Given the description of an element on the screen output the (x, y) to click on. 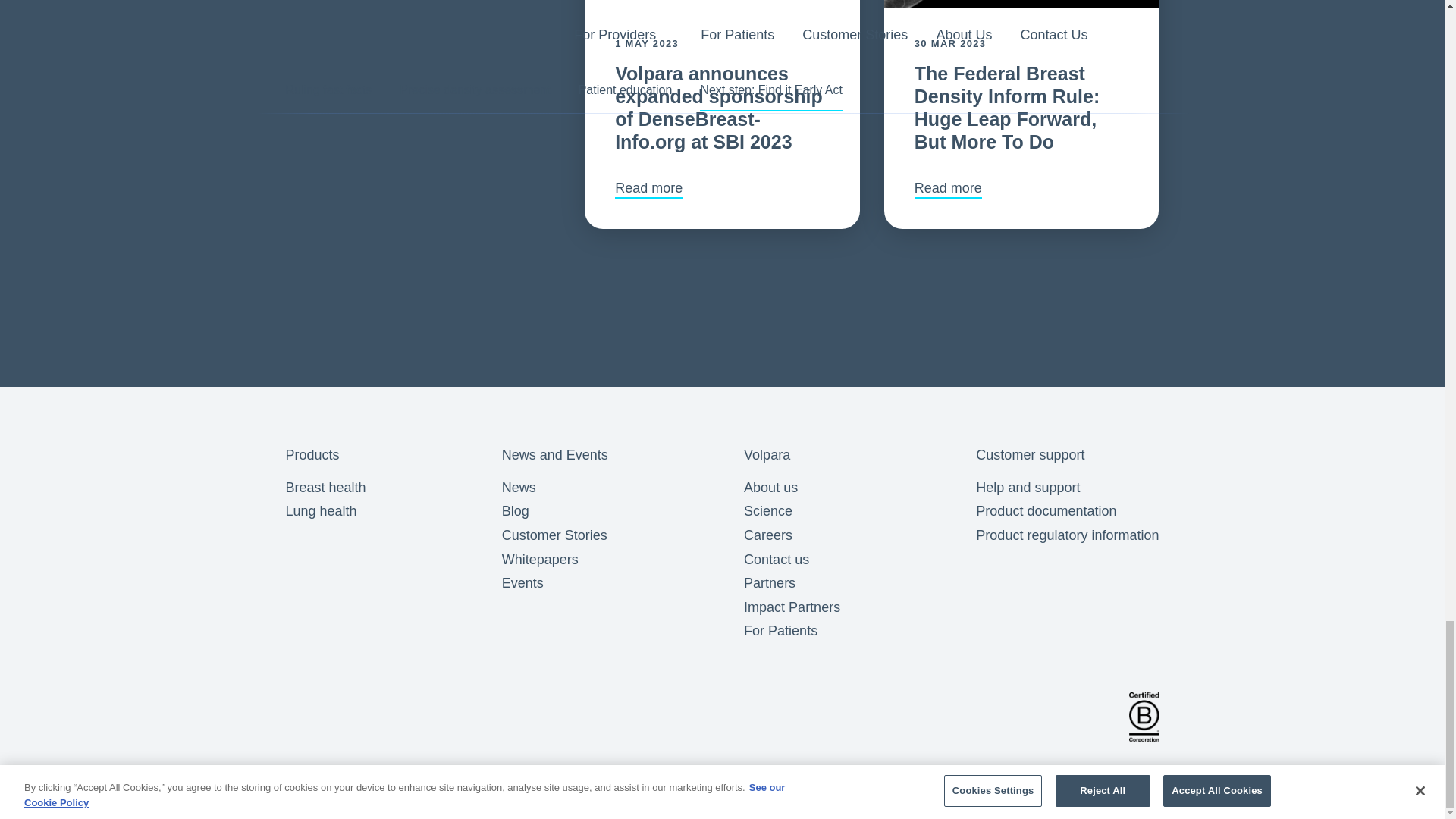
Twitter company logo (392, 717)
LinkedIn Corporation logo (347, 717)
Facebook company logo (302, 717)
